Given the description of an element on the screen output the (x, y) to click on. 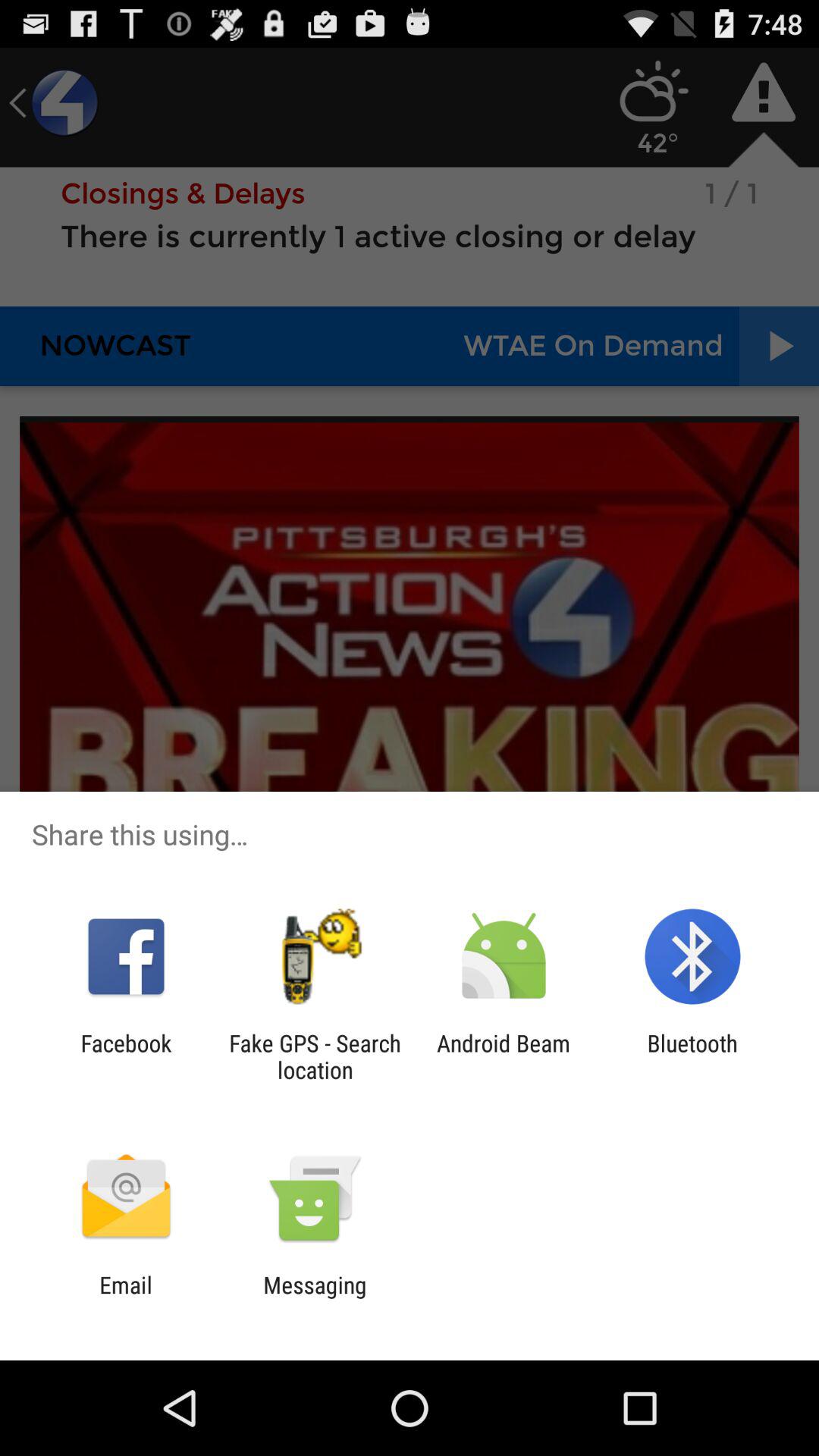
tap item to the right of fake gps search icon (503, 1056)
